Given the description of an element on the screen output the (x, y) to click on. 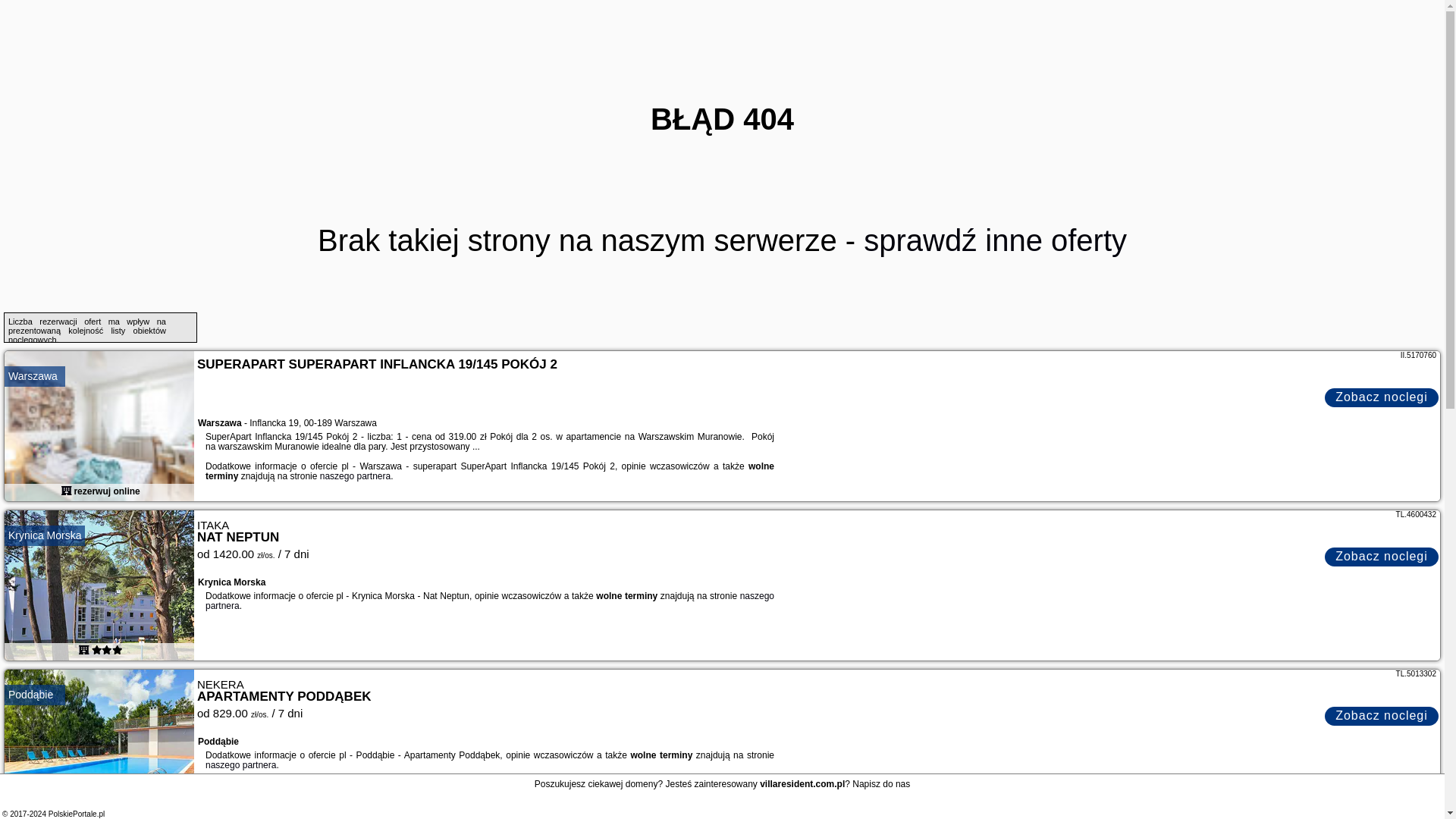
Zobacz noclegi (1381, 556)
Zobacz noclegi (1381, 715)
naszego partnera (489, 600)
Oferta naszego partnera: Wakacje.pl (1415, 514)
Warszawa (33, 376)
Wczasy - pl (1381, 397)
naszego partnera (355, 475)
oferta (83, 649)
